Given the description of an element on the screen output the (x, y) to click on. 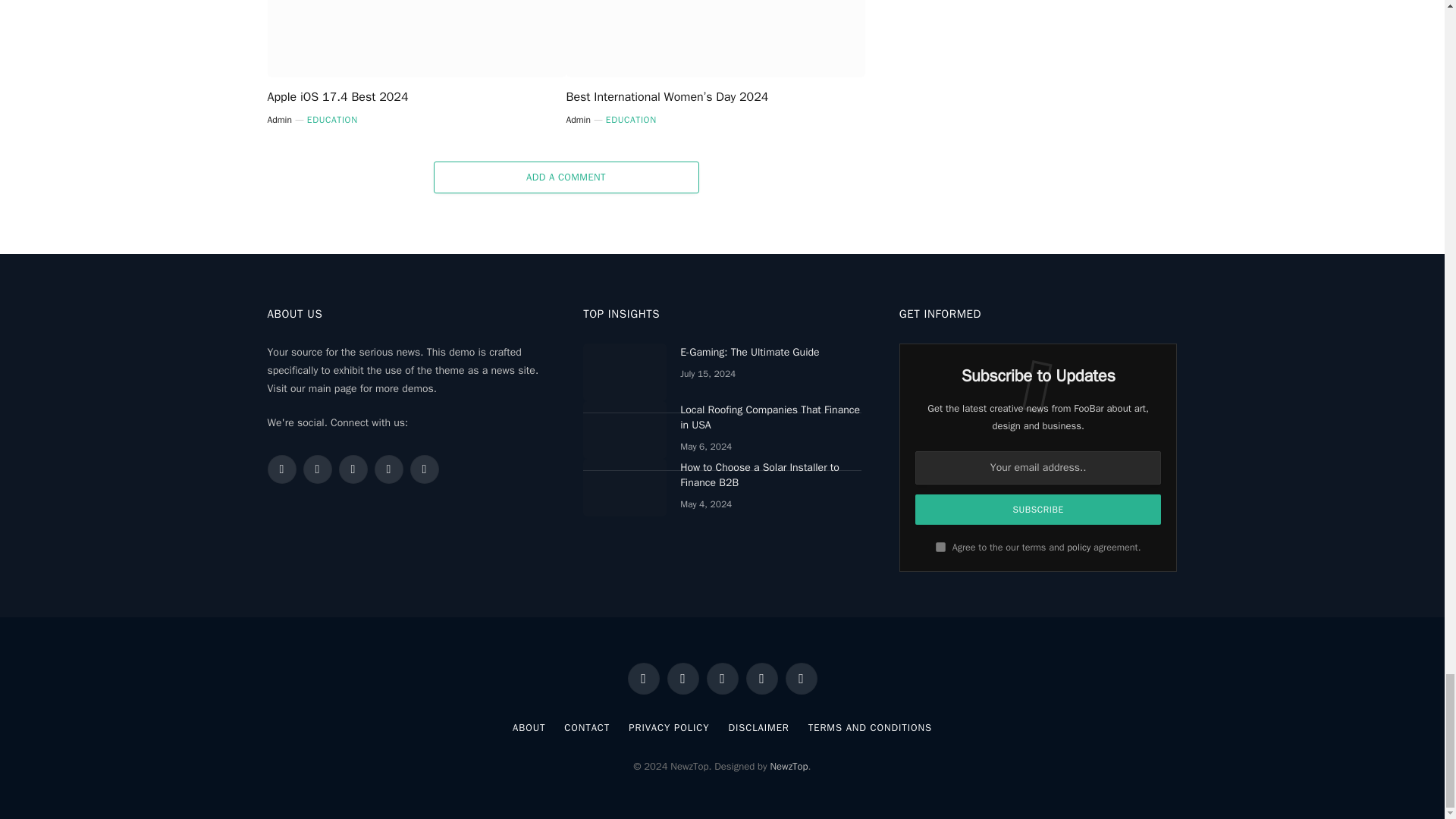
on (940, 547)
Subscribe (1038, 509)
